Given the description of an element on the screen output the (x, y) to click on. 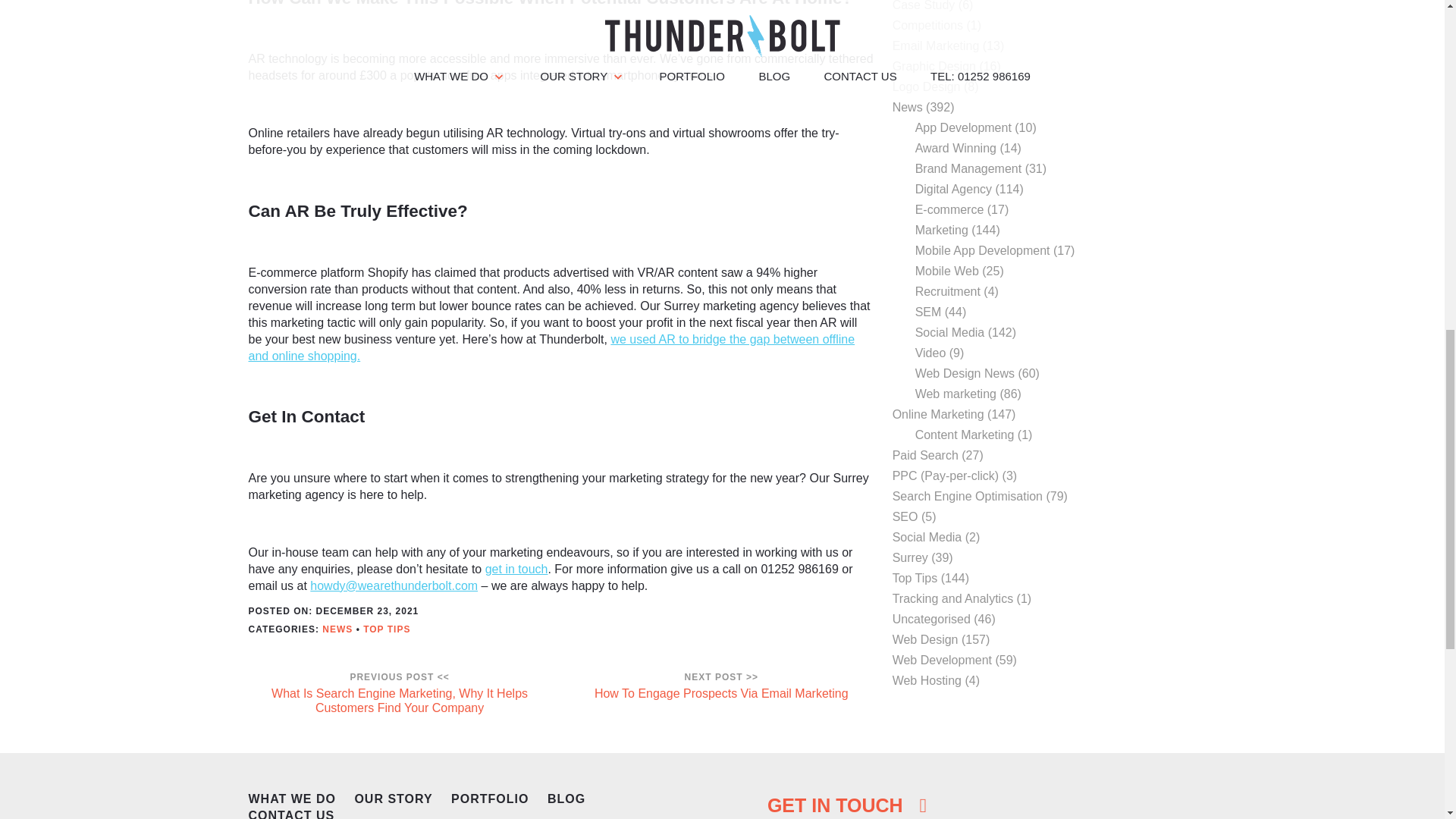
TOP TIPS (386, 629)
get in touch (516, 568)
NEWS (336, 629)
